Given the description of an element on the screen output the (x, y) to click on. 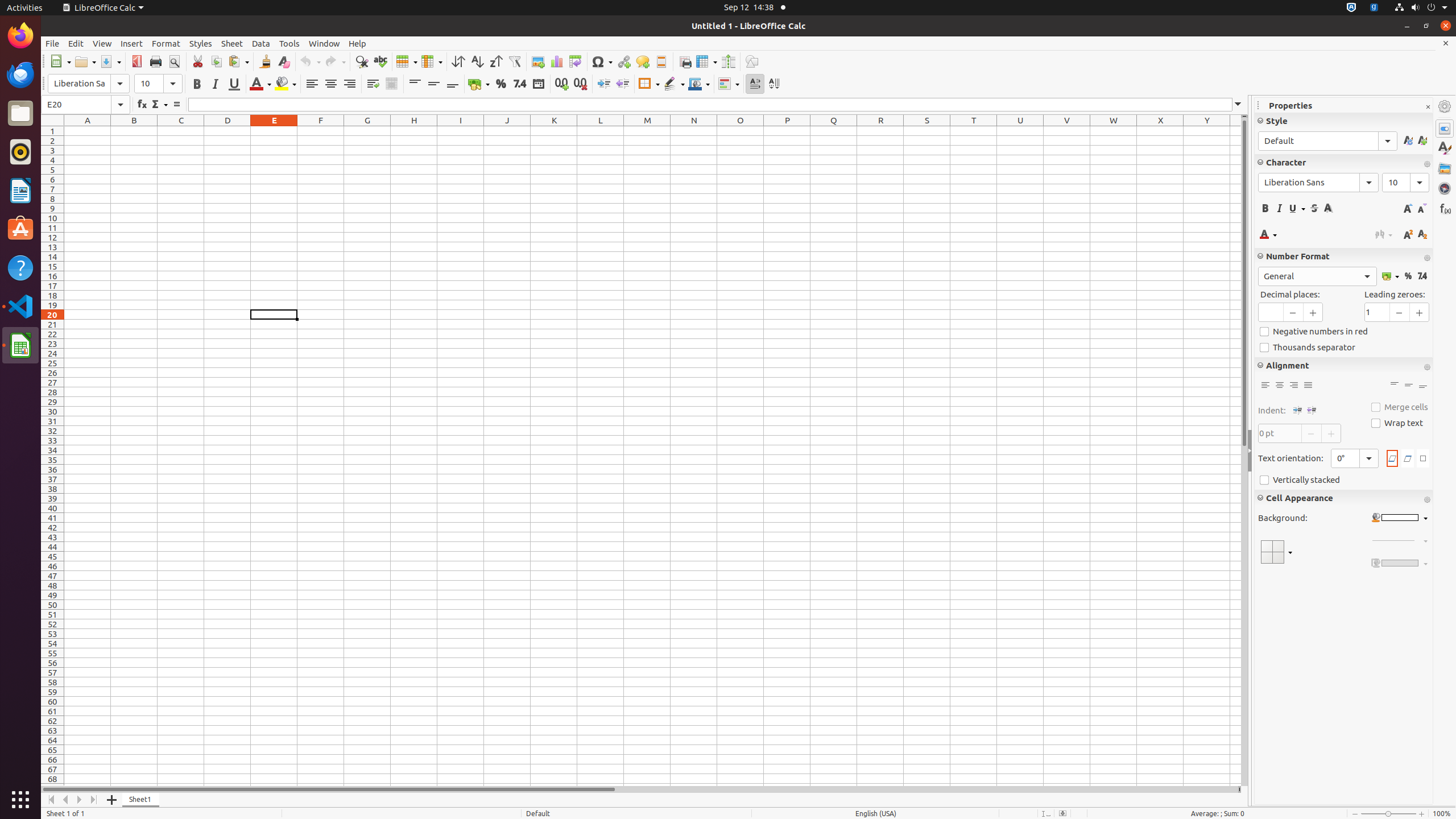
Align Bottom Element type: push-button (452, 83)
Move To End Element type: push-button (94, 799)
Sort Element type: push-button (457, 61)
Text Orientation Element type: combo-box (1354, 458)
Number Element type: push-button (519, 83)
